Given the description of an element on the screen output the (x, y) to click on. 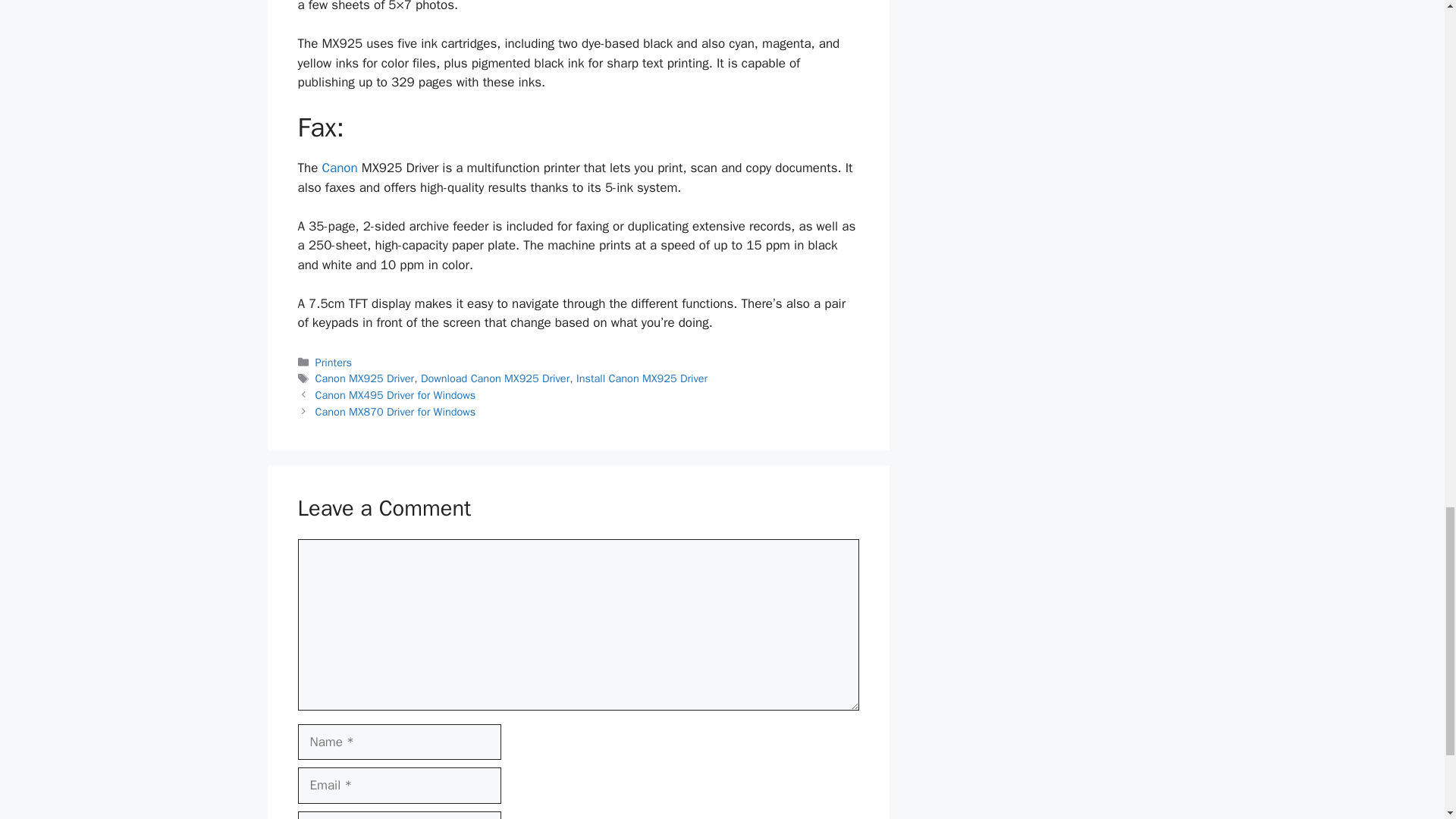
Canon MX495 Driver for Windows (395, 395)
Install Canon MX925 Driver (641, 377)
Download Canon MX925 Driver (494, 377)
Canon MX925 Driver (364, 377)
Canon (338, 167)
Canon MX870 Driver for Windows (395, 411)
Printers (333, 362)
